Given the description of an element on the screen output the (x, y) to click on. 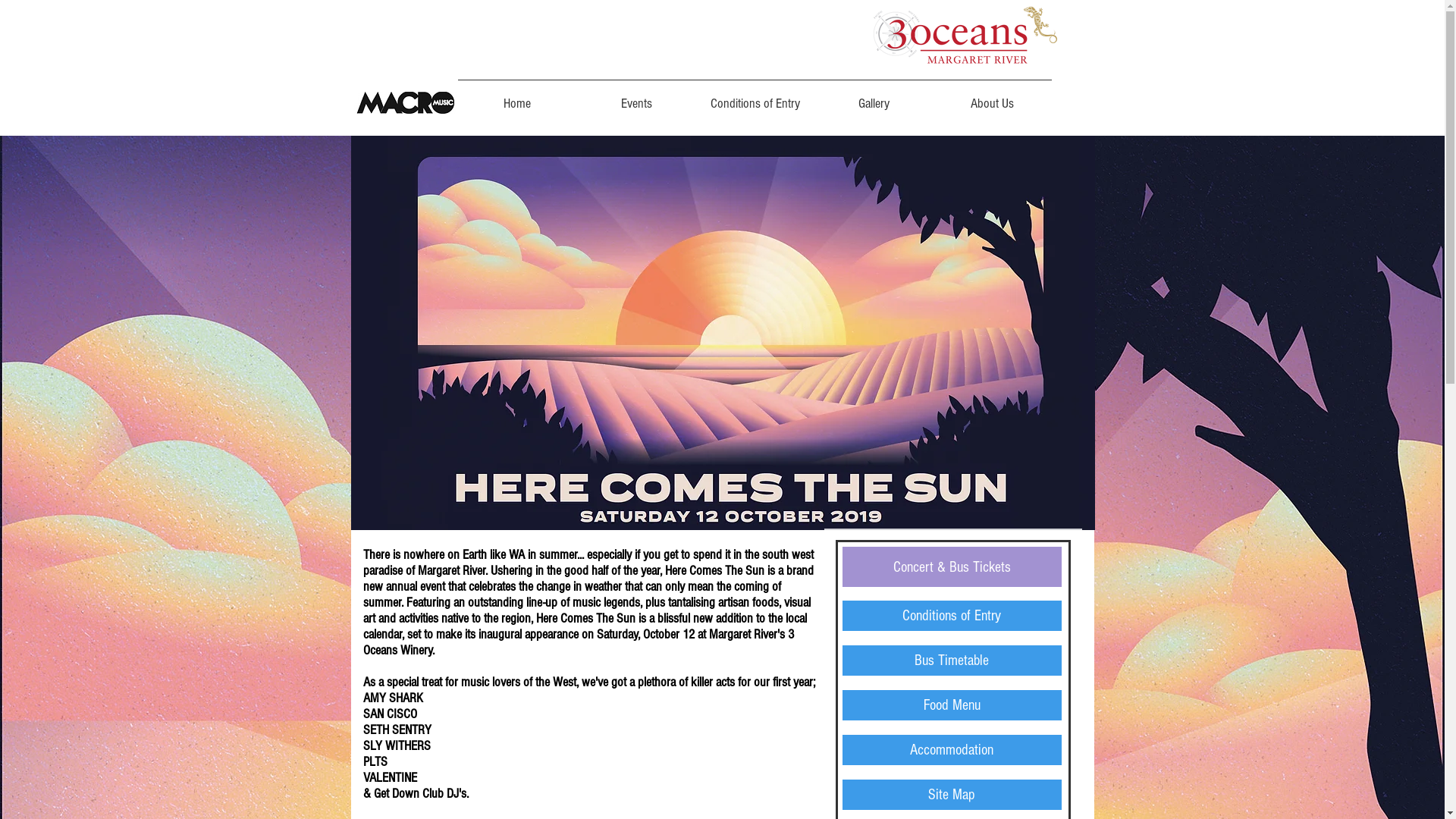
About Us Element type: text (991, 96)
Conditions of Entry Element type: text (755, 96)
Site Map Element type: text (950, 794)
Accommodation Element type: text (950, 749)
Events Element type: text (635, 96)
Food Menu Element type: text (950, 705)
Home Element type: text (517, 96)
Conditions of Entry Element type: text (950, 615)
Gallery Element type: text (873, 96)
Bus Timetable Element type: text (950, 660)
Concert & Bus Tickets Element type: text (950, 566)
Screen Shot 2016-06-23 at 3.25.34 PM.png Element type: hover (403, 102)
